Given the description of an element on the screen output the (x, y) to click on. 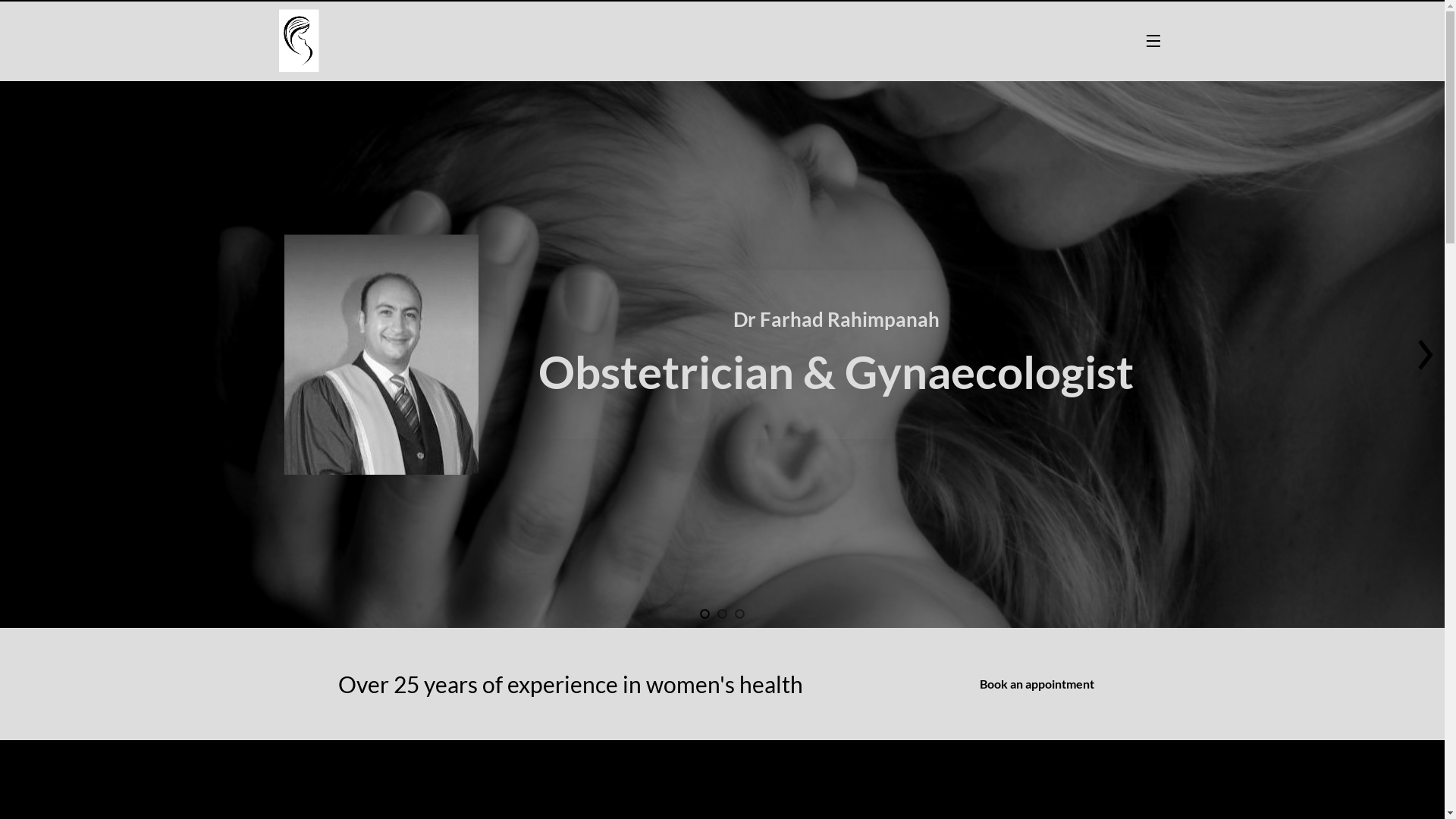
Book an appointment Element type: text (1025, 683)
